Given the description of an element on the screen output the (x, y) to click on. 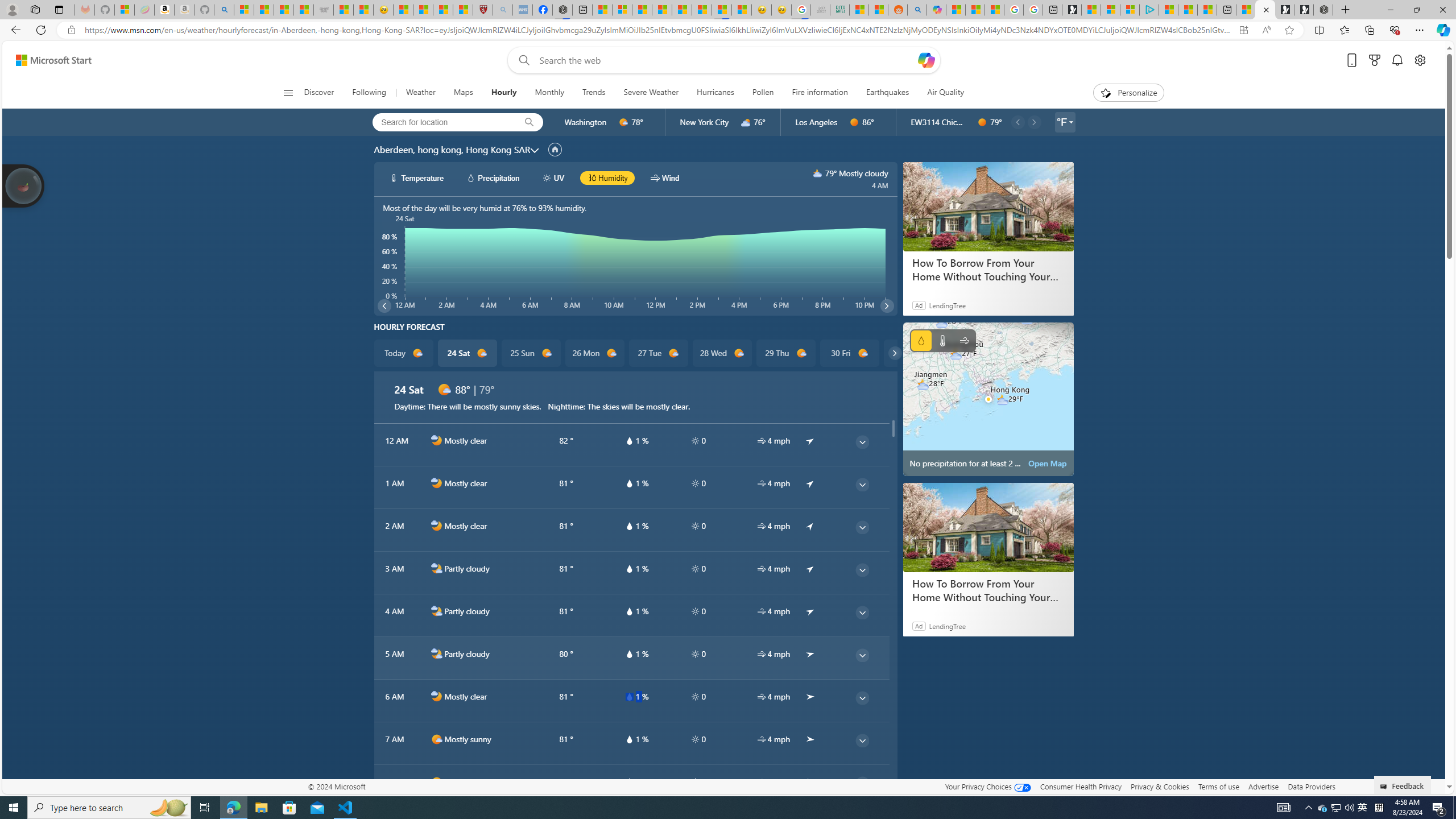
These 3 Stocks Pay You More Than 5% to Own Them (1206, 9)
Air Quality (940, 92)
d0000 (981, 121)
